Given the description of an element on the screen output the (x, y) to click on. 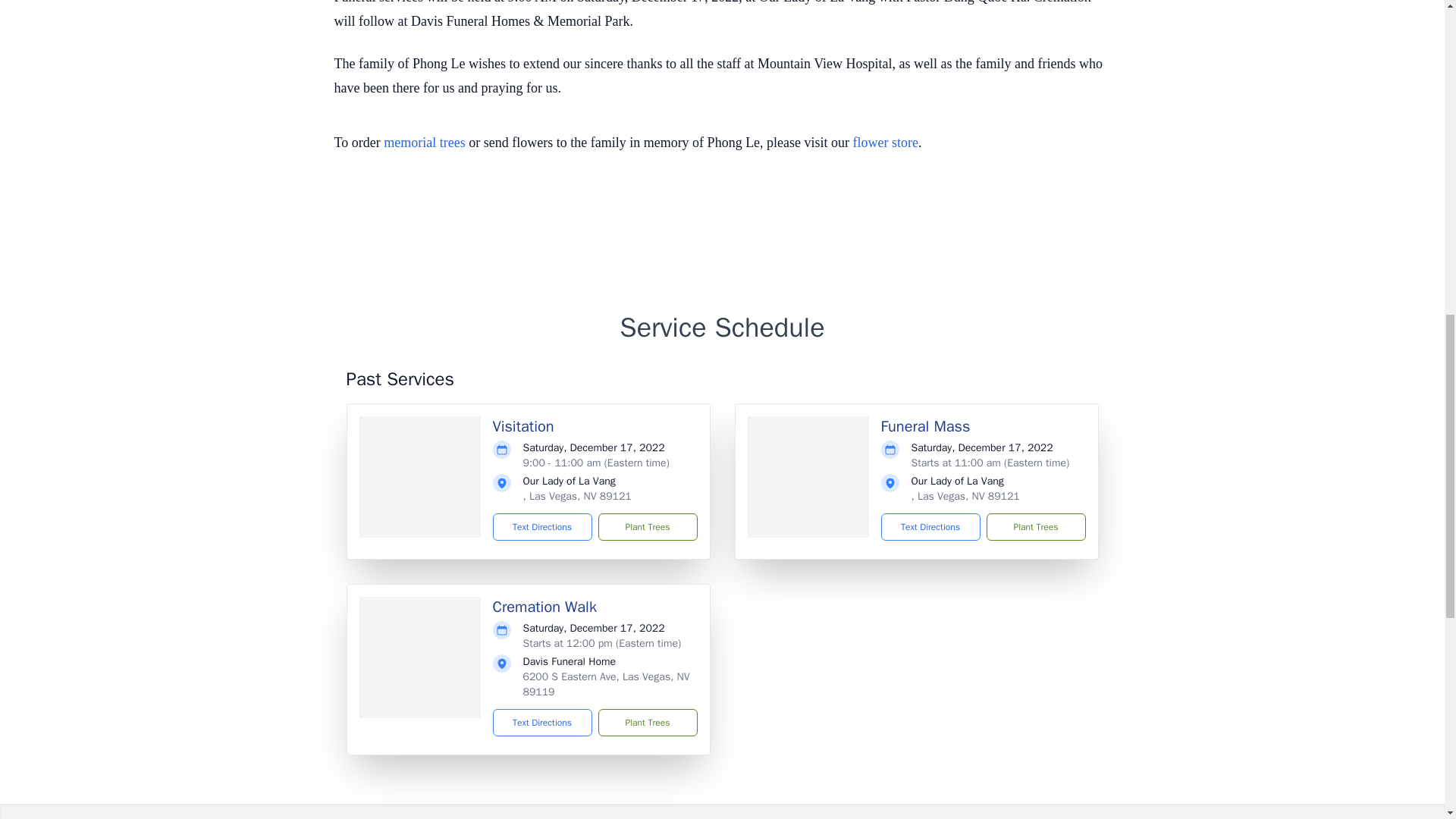
Plant Trees (646, 722)
Plant Trees (646, 526)
Text Directions (929, 526)
6200 S Eastern Ave, Las Vegas, NV 89119 (606, 684)
, Las Vegas, NV 89121 (576, 495)
Text Directions (542, 722)
flower store (885, 142)
memorial trees (424, 142)
Plant Trees (1034, 526)
, Las Vegas, NV 89121 (965, 495)
